Given the description of an element on the screen output the (x, y) to click on. 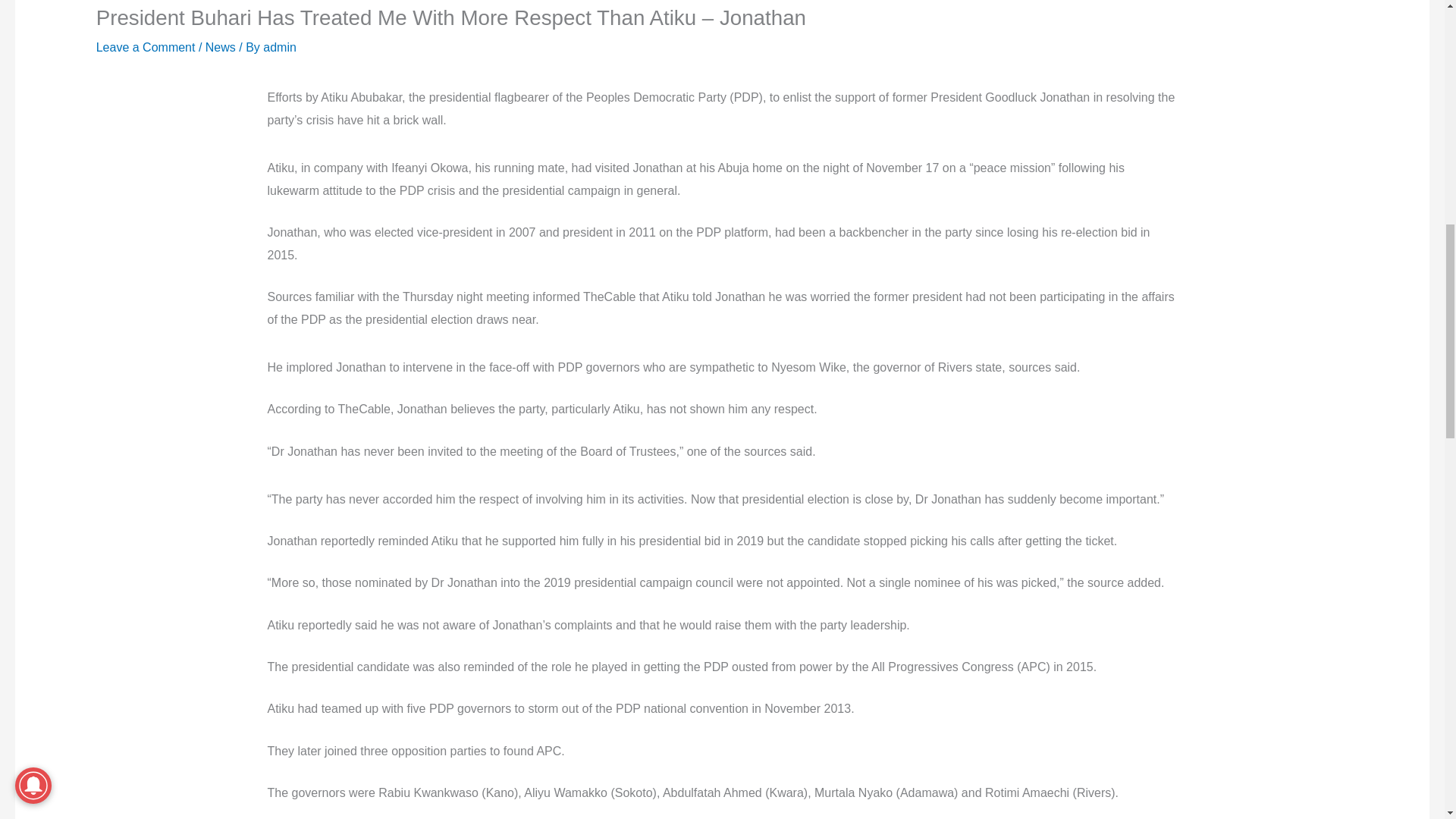
View all posts by admin (280, 47)
News (220, 47)
Leave a Comment (145, 47)
admin (280, 47)
